Given the description of an element on the screen output the (x, y) to click on. 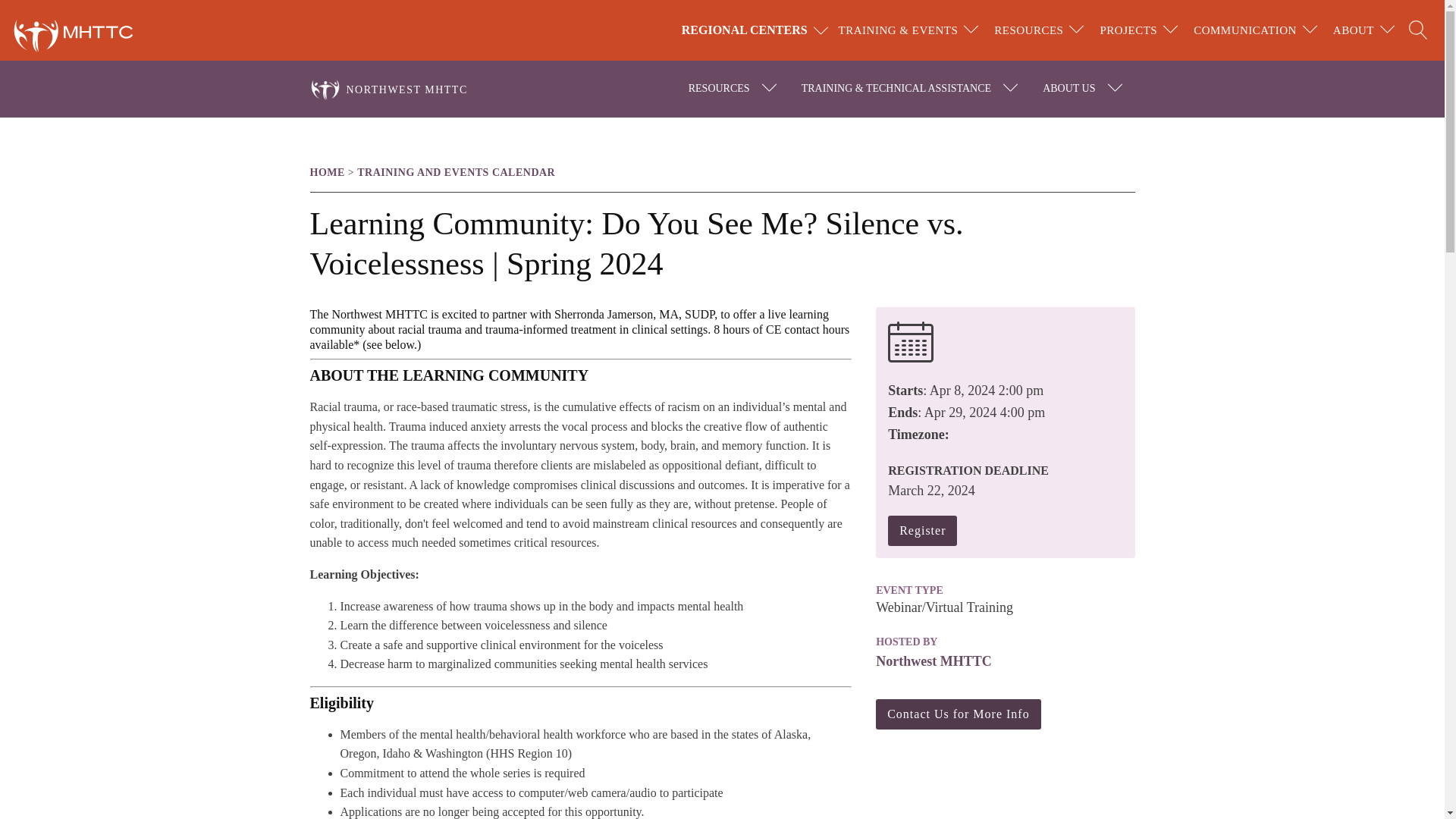
REGIONAL CENTERS (756, 30)
RESOURCES (1028, 30)
PROJECTS (1128, 30)
